Given the description of an element on the screen output the (x, y) to click on. 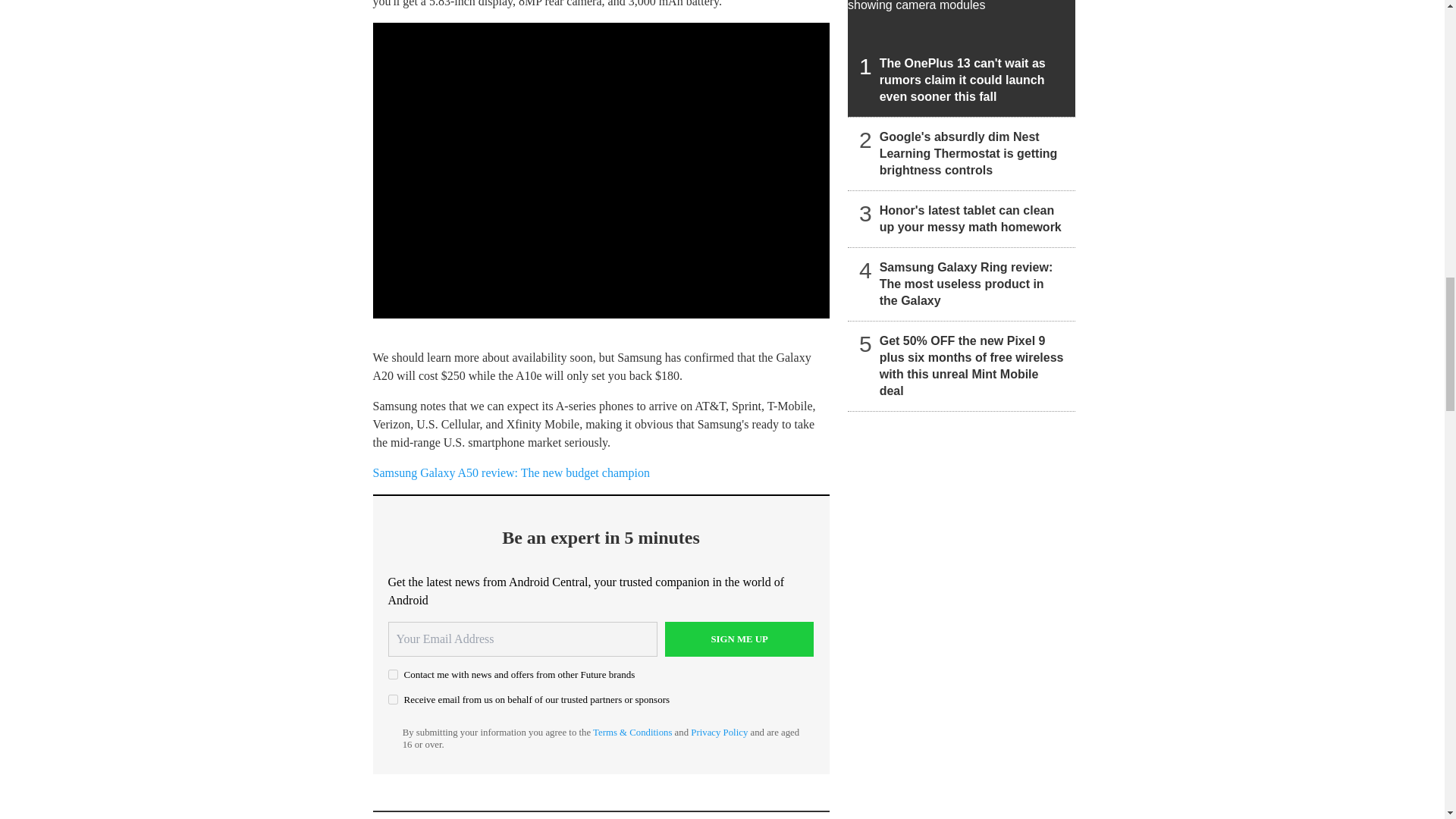
Sign me up (739, 638)
on (392, 674)
on (392, 699)
